Given the description of an element on the screen output the (x, y) to click on. 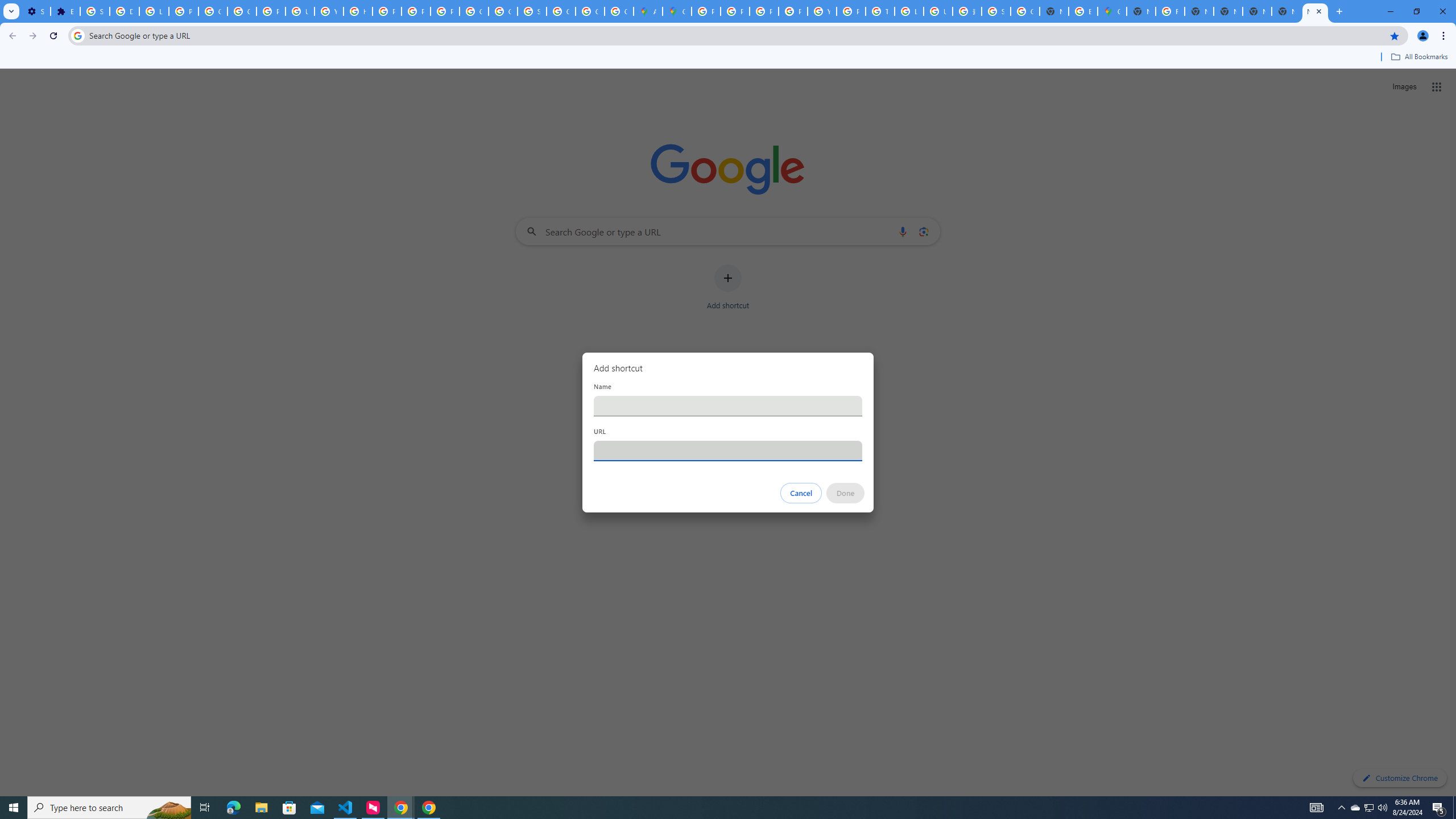
Google Maps (1111, 11)
Sign in - Google Accounts (95, 11)
Settings - On startup (35, 11)
Google Account Help (212, 11)
